Given the description of an element on the screen output the (x, y) to click on. 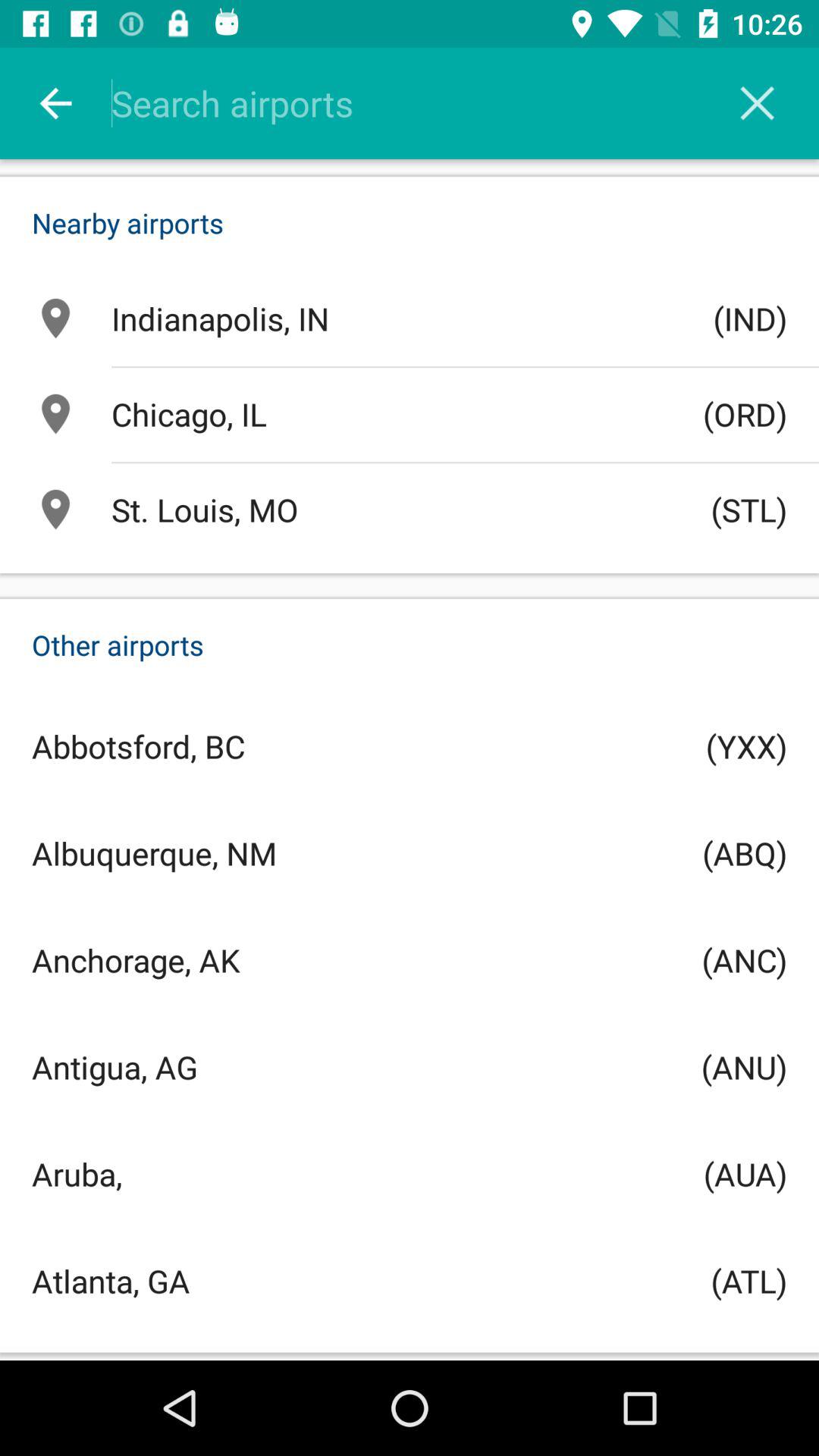
enter search text (429, 103)
